Given the description of an element on the screen output the (x, y) to click on. 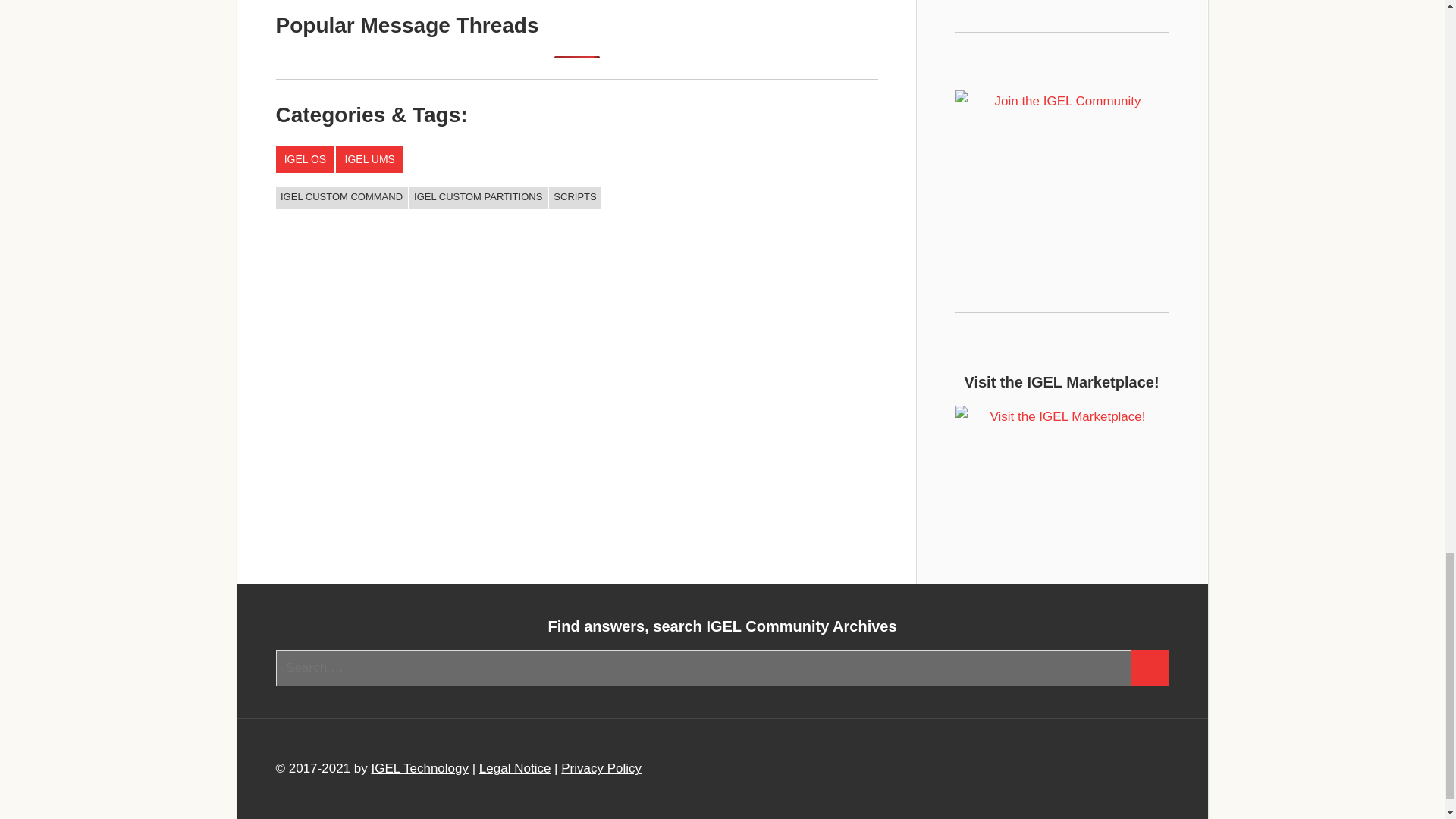
Search for: (704, 668)
Visit the IGEL Marketplace! (1062, 475)
